Given the description of an element on the screen output the (x, y) to click on. 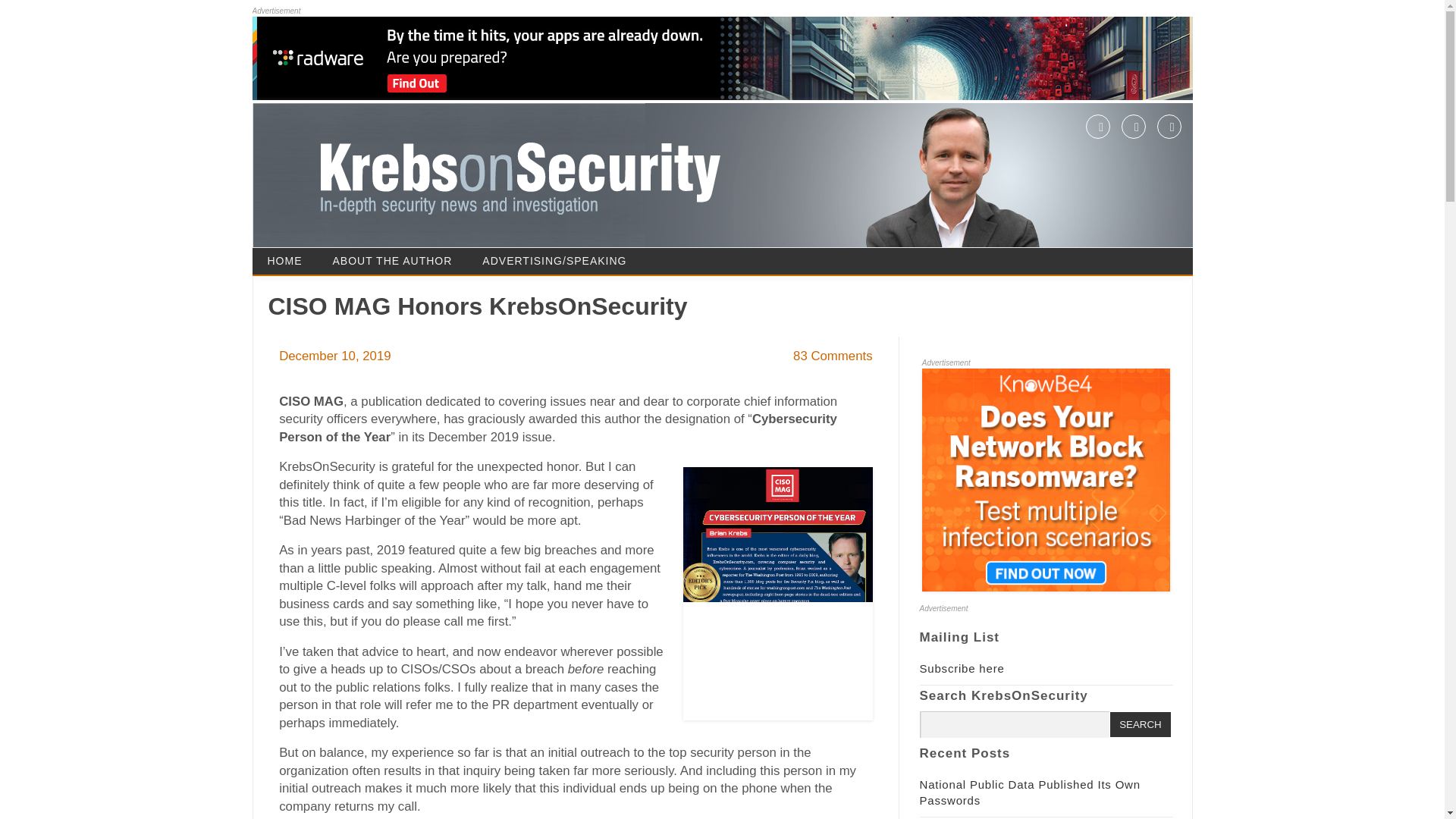
Skip to content (764, 253)
83 Comments (832, 355)
HOME (284, 261)
Skip to content (764, 253)
ABOUT THE AUTHOR (392, 261)
Search (1139, 724)
